Given the description of an element on the screen output the (x, y) to click on. 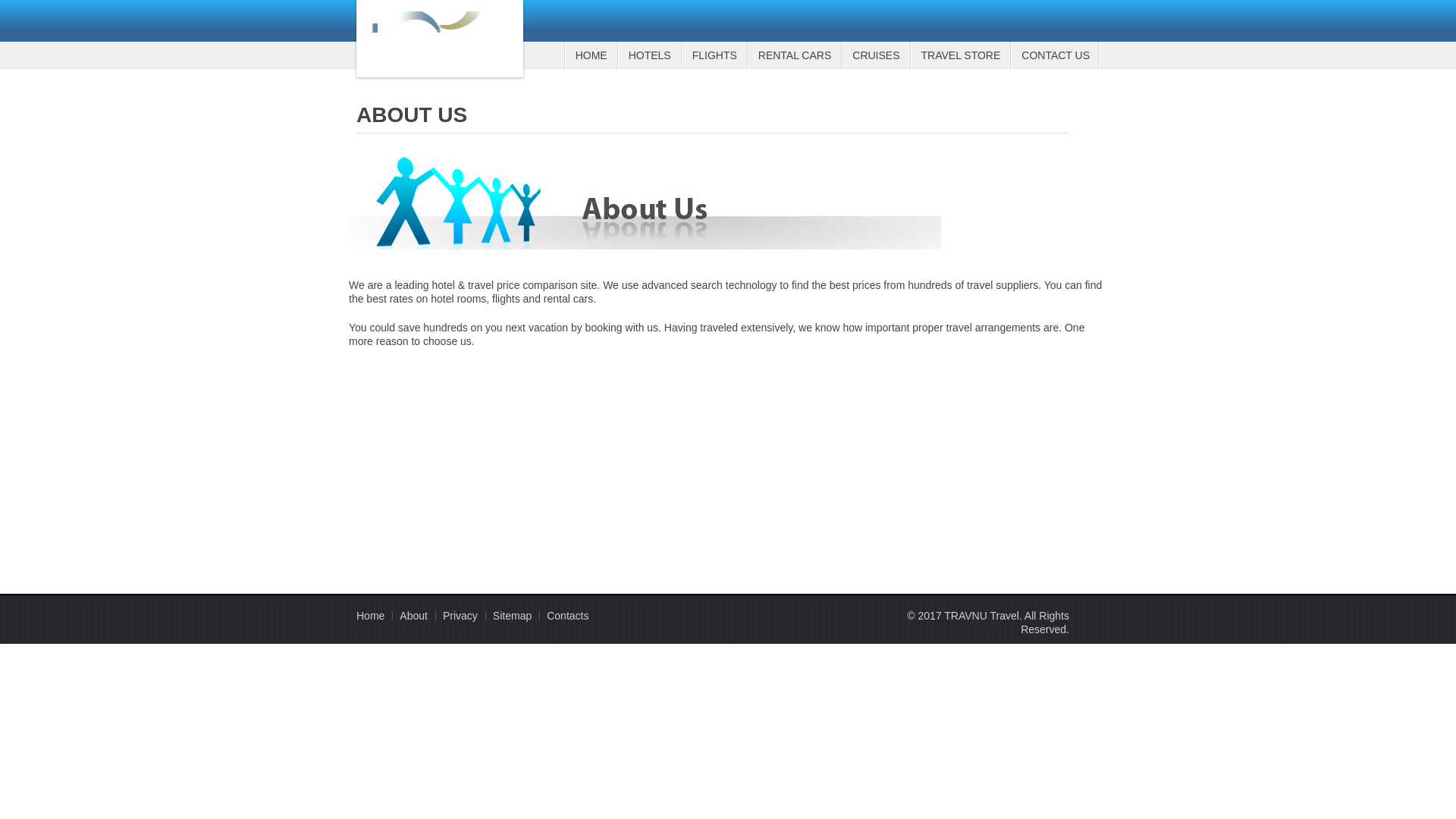
About (413, 615)
CONTACT US (1054, 54)
CRUISES (874, 54)
HOTELS (649, 54)
RENTAL CARS (793, 54)
Privacy (459, 615)
Contacts (567, 615)
Home (370, 615)
FLIGHTS (713, 54)
TRAVNU Travel (440, 38)
